Given the description of an element on the screen output the (x, y) to click on. 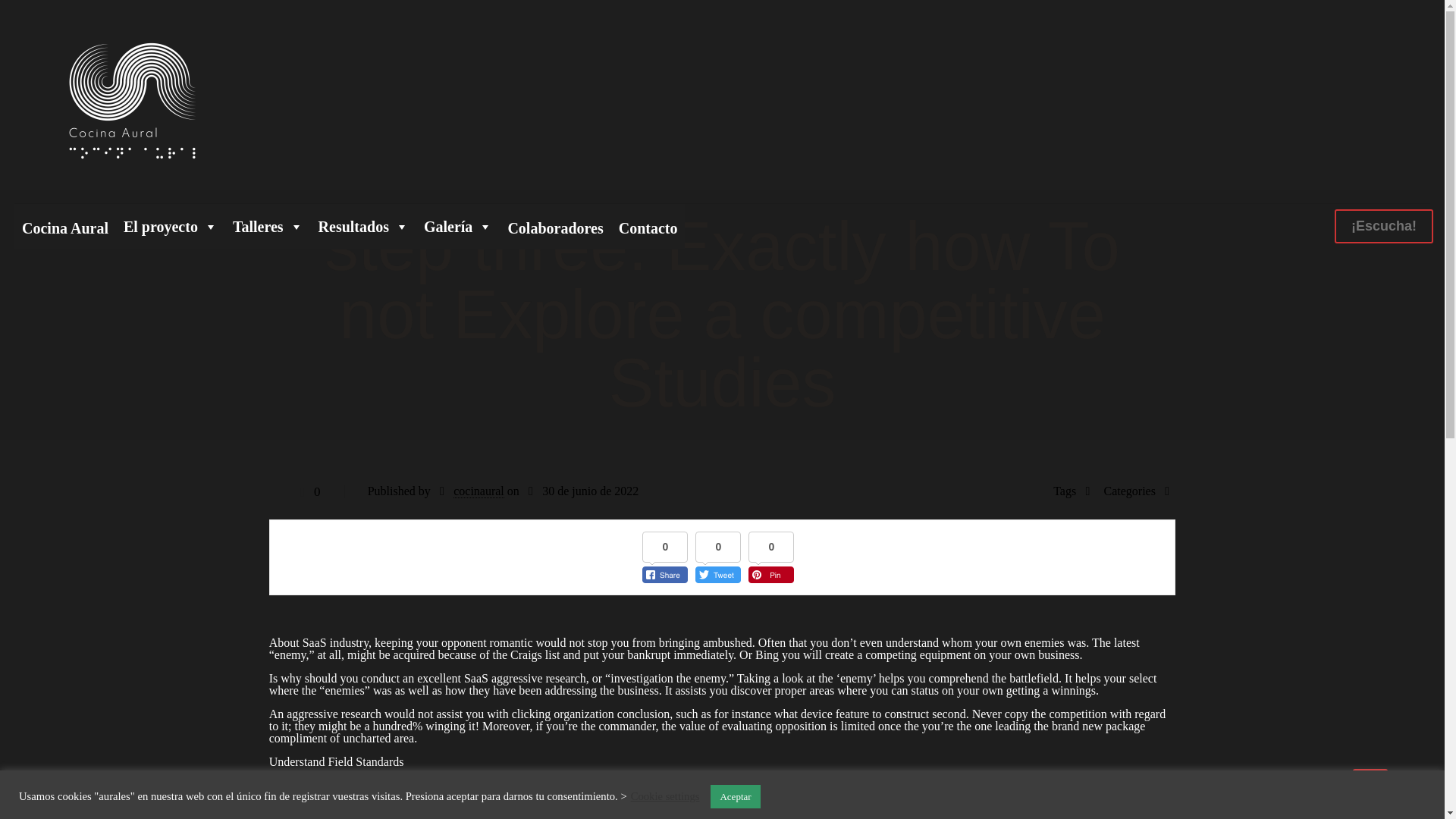
desplegable (268, 226)
Colaboradores (554, 226)
Talleres (268, 226)
desplegable (363, 226)
cocinaural (477, 490)
Resultados (363, 226)
Contacto (648, 226)
desplegable (457, 226)
Cocina Aural (132, 101)
desplegable (170, 226)
El proyecto (170, 226)
0 (306, 491)
Cocina Aural (65, 226)
